Given the description of an element on the screen output the (x, y) to click on. 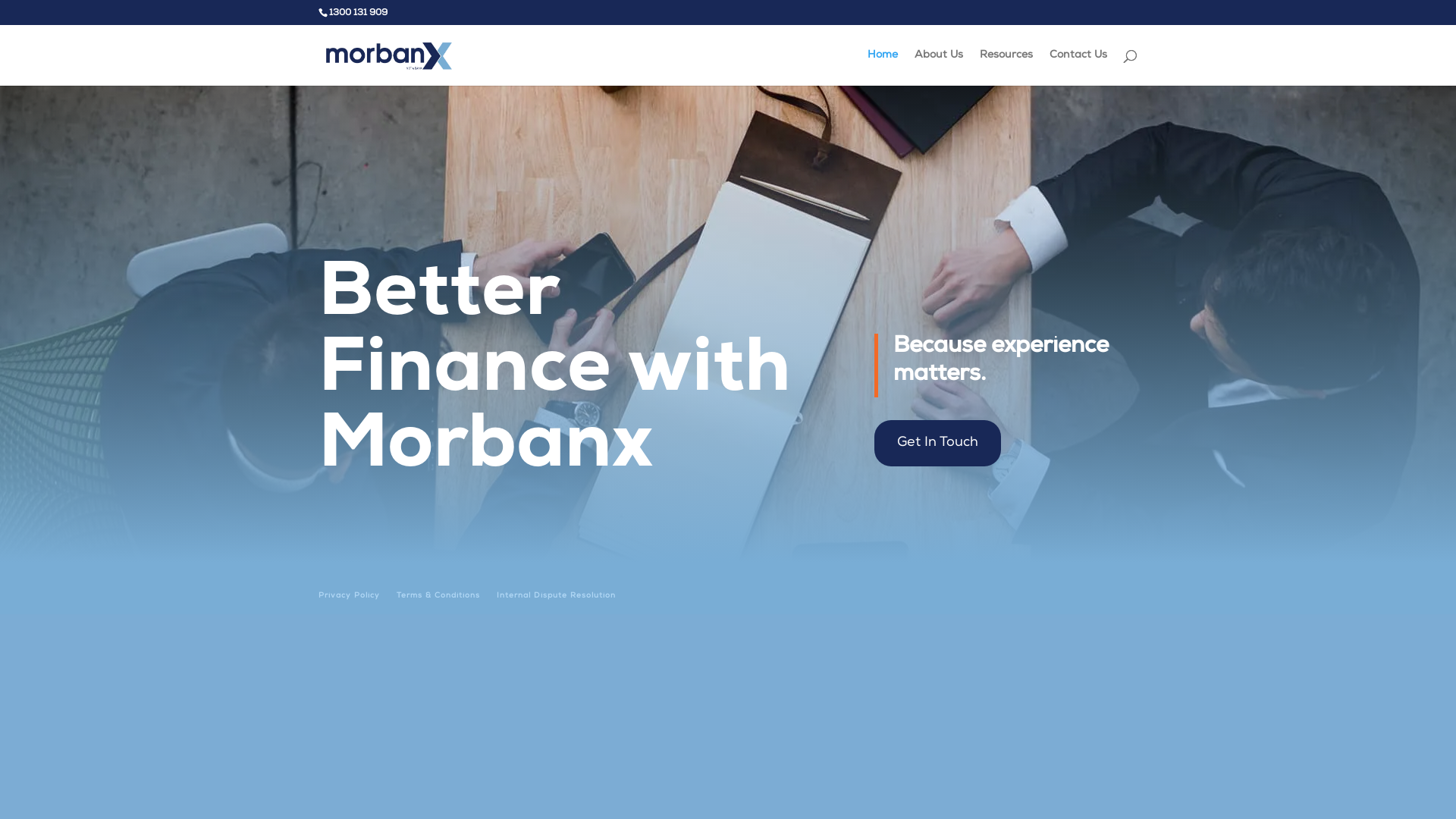
Home Element type: text (882, 67)
Get In Touch Element type: text (937, 443)
Resources Element type: text (1005, 67)
Contact Us Element type: text (1078, 67)
Privacy Policy Element type: text (348, 595)
About Us Element type: text (938, 67)
Internal Dispute Resolution Element type: text (555, 595)
Terms & Conditions Element type: text (438, 595)
